Given the description of an element on the screen output the (x, y) to click on. 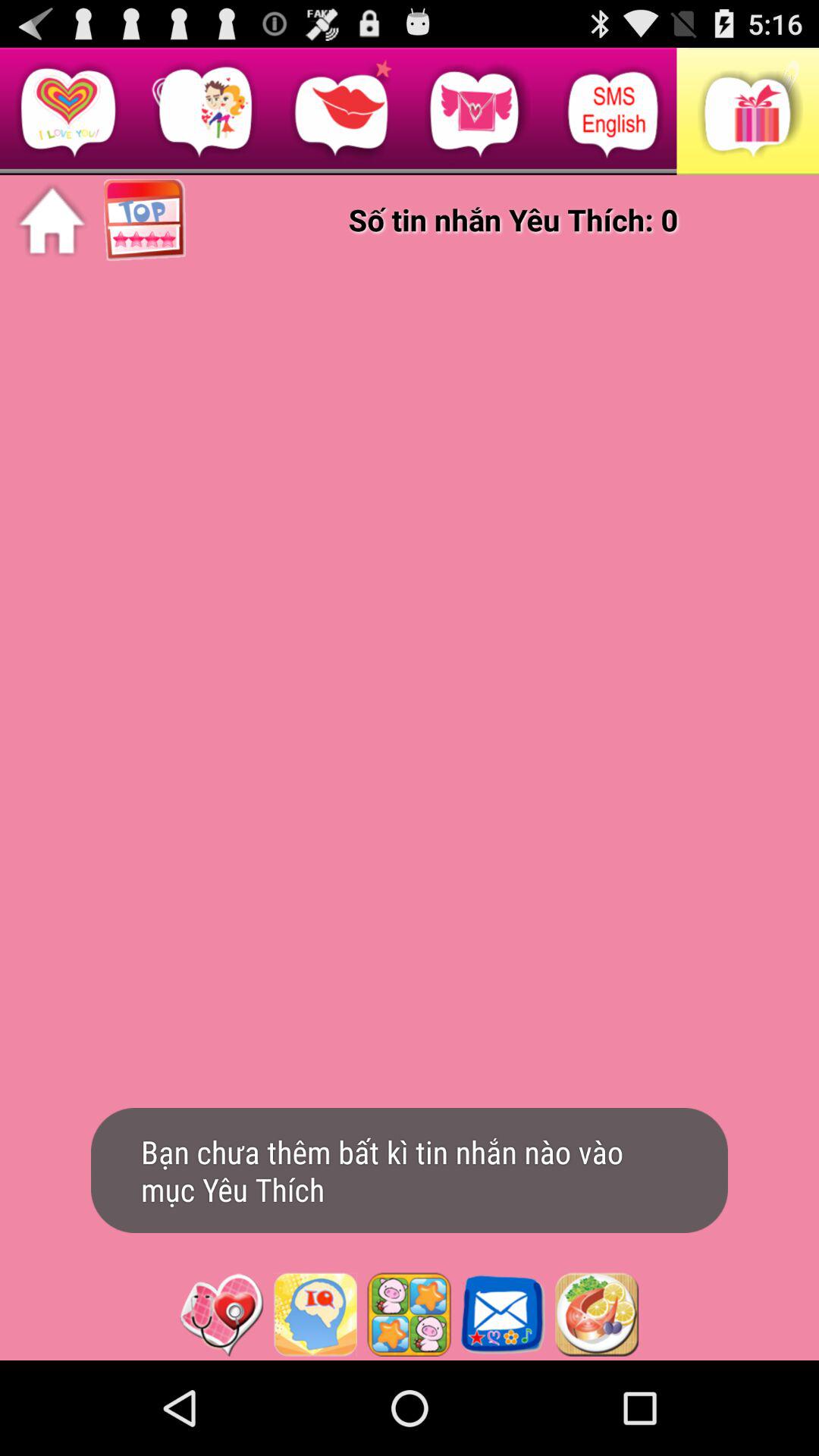
menu button (596, 1314)
